Given the description of an element on the screen output the (x, y) to click on. 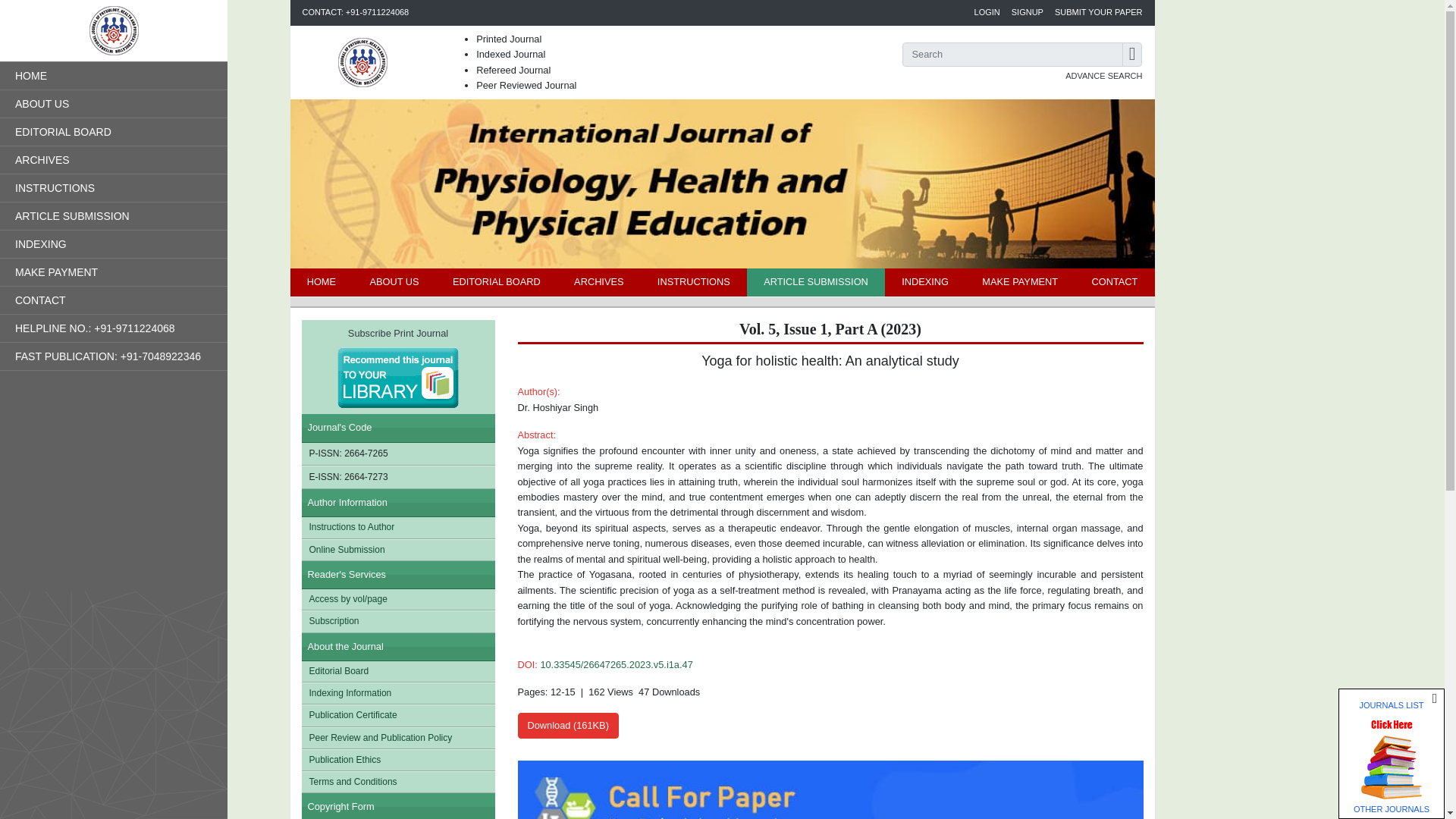
Online Submission (398, 549)
ARTICLE SUBMISSION (815, 281)
EDITORIAL BOARD (496, 281)
Peer Review and Publication Policy (398, 738)
Terms and Conditions (398, 782)
Subscription (398, 620)
LOGIN (987, 12)
ADVANCE SEARCH (1103, 76)
Subscribe Print Journal (398, 367)
